Given the description of an element on the screen output the (x, y) to click on. 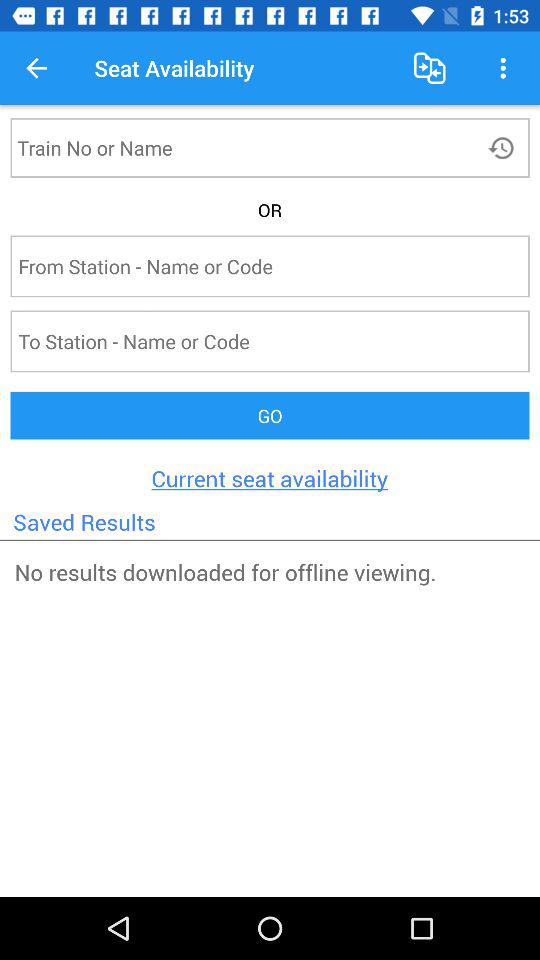
history button (503, 147)
